Given the description of an element on the screen output the (x, y) to click on. 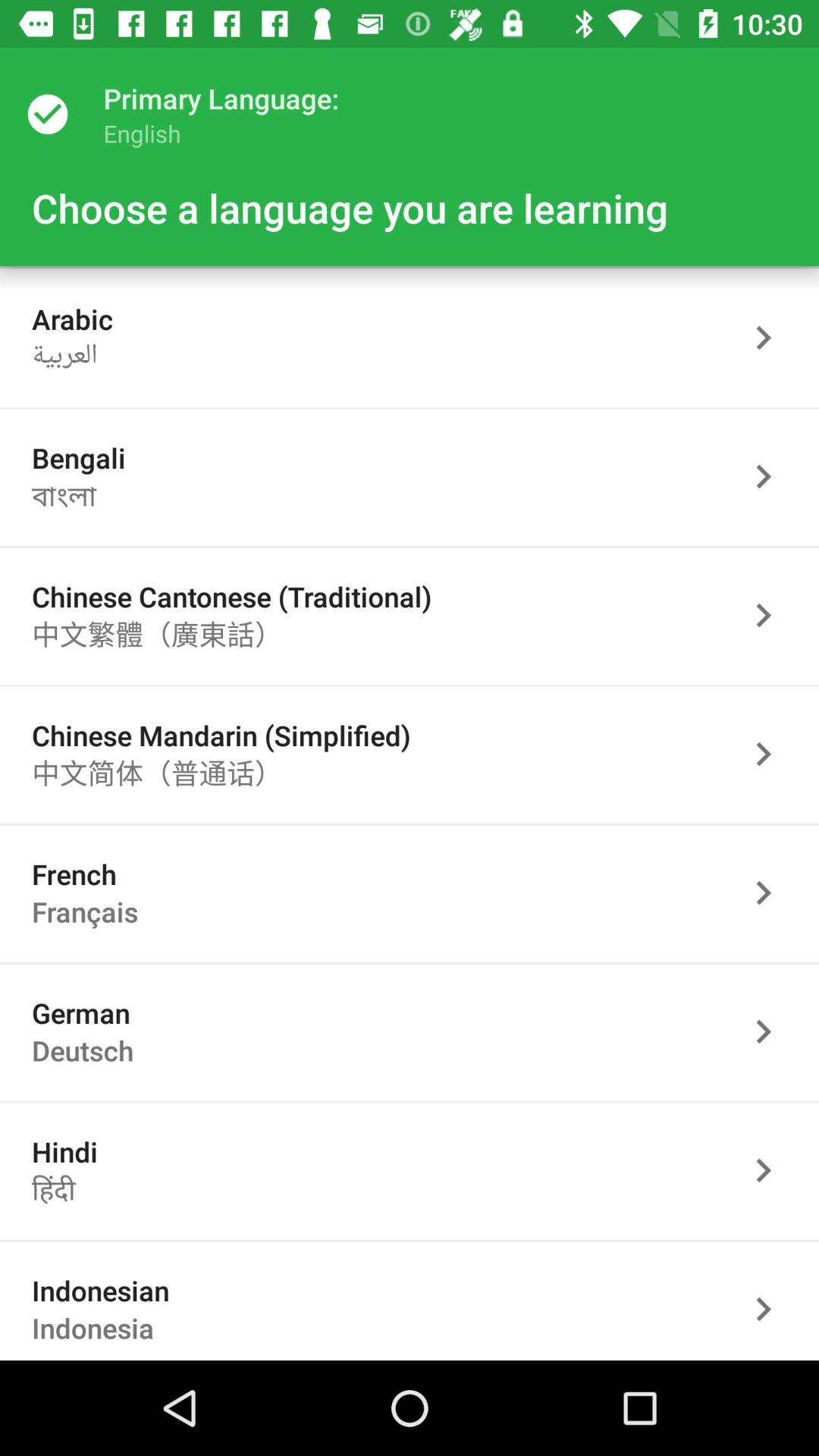
go to menu for this item (771, 1170)
